Given the description of an element on the screen output the (x, y) to click on. 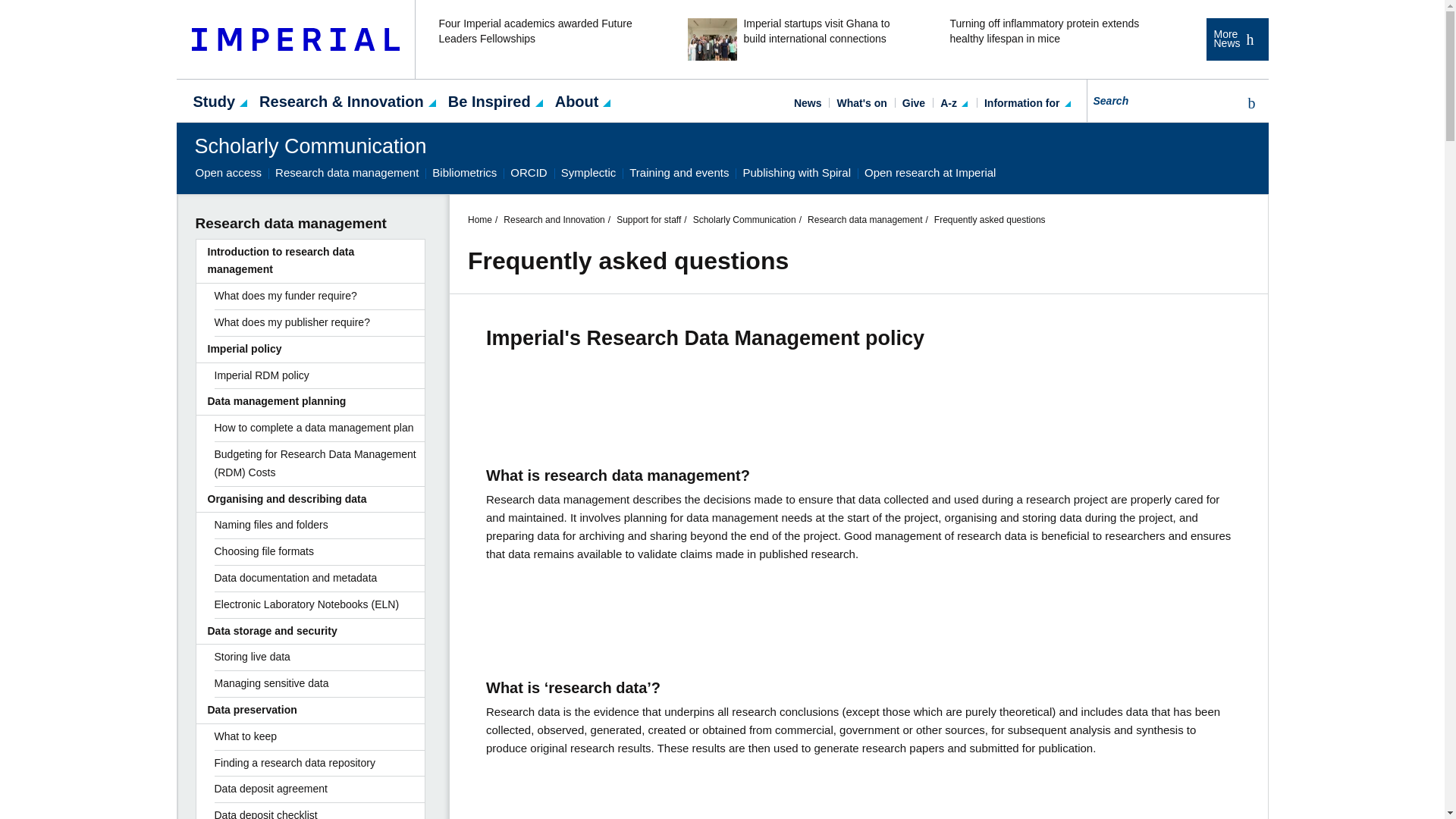
Study (213, 100)
Search for... (1177, 100)
Imperial College London Home (295, 39)
More News (1236, 39)
Four Imperial academics awarded Future Leaders Fellowships (542, 38)
Imperial College London (295, 39)
Search (1249, 102)
